Given the description of an element on the screen output the (x, y) to click on. 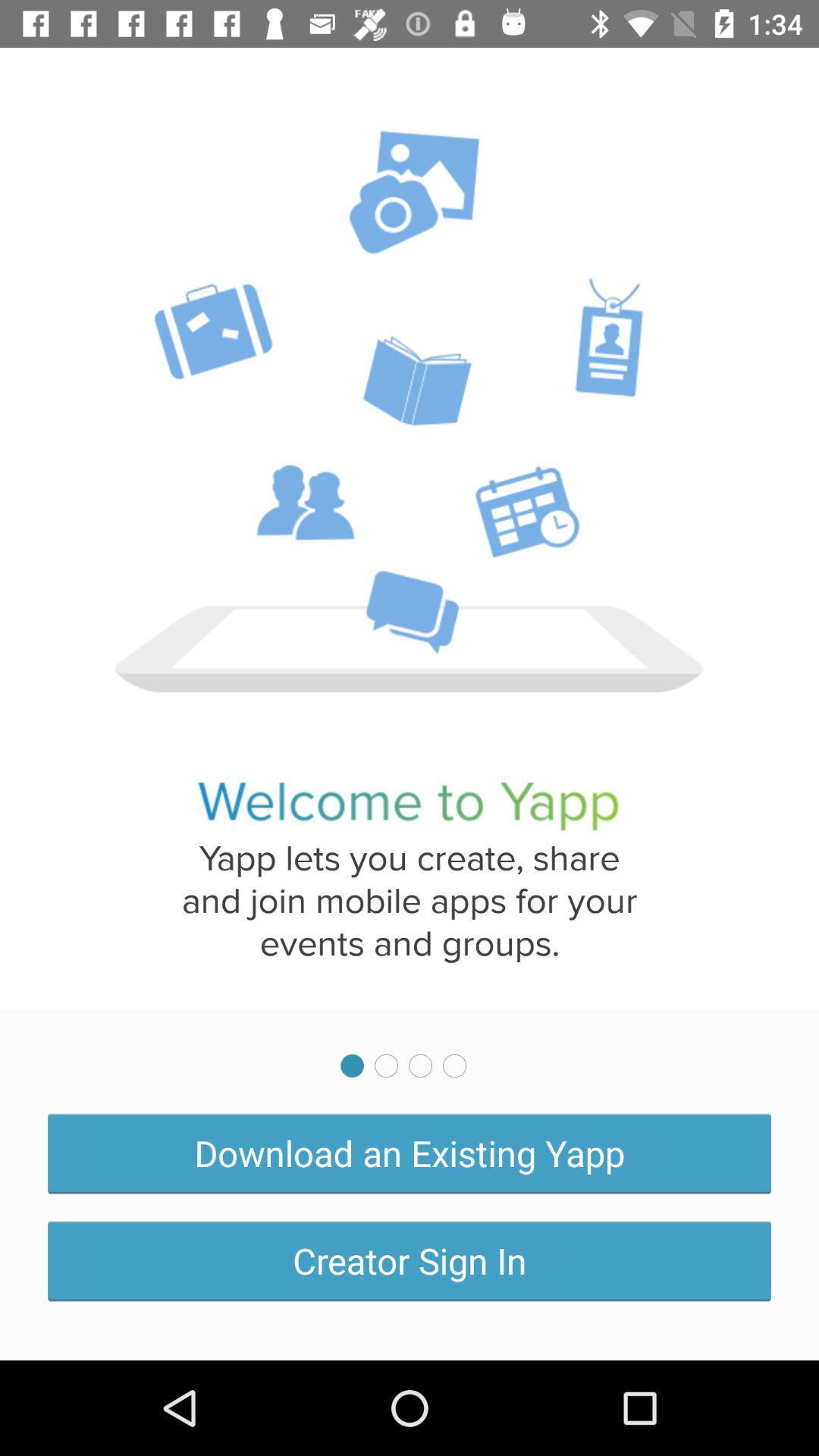
click the item below the download an existing button (409, 1260)
